Given the description of an element on the screen output the (x, y) to click on. 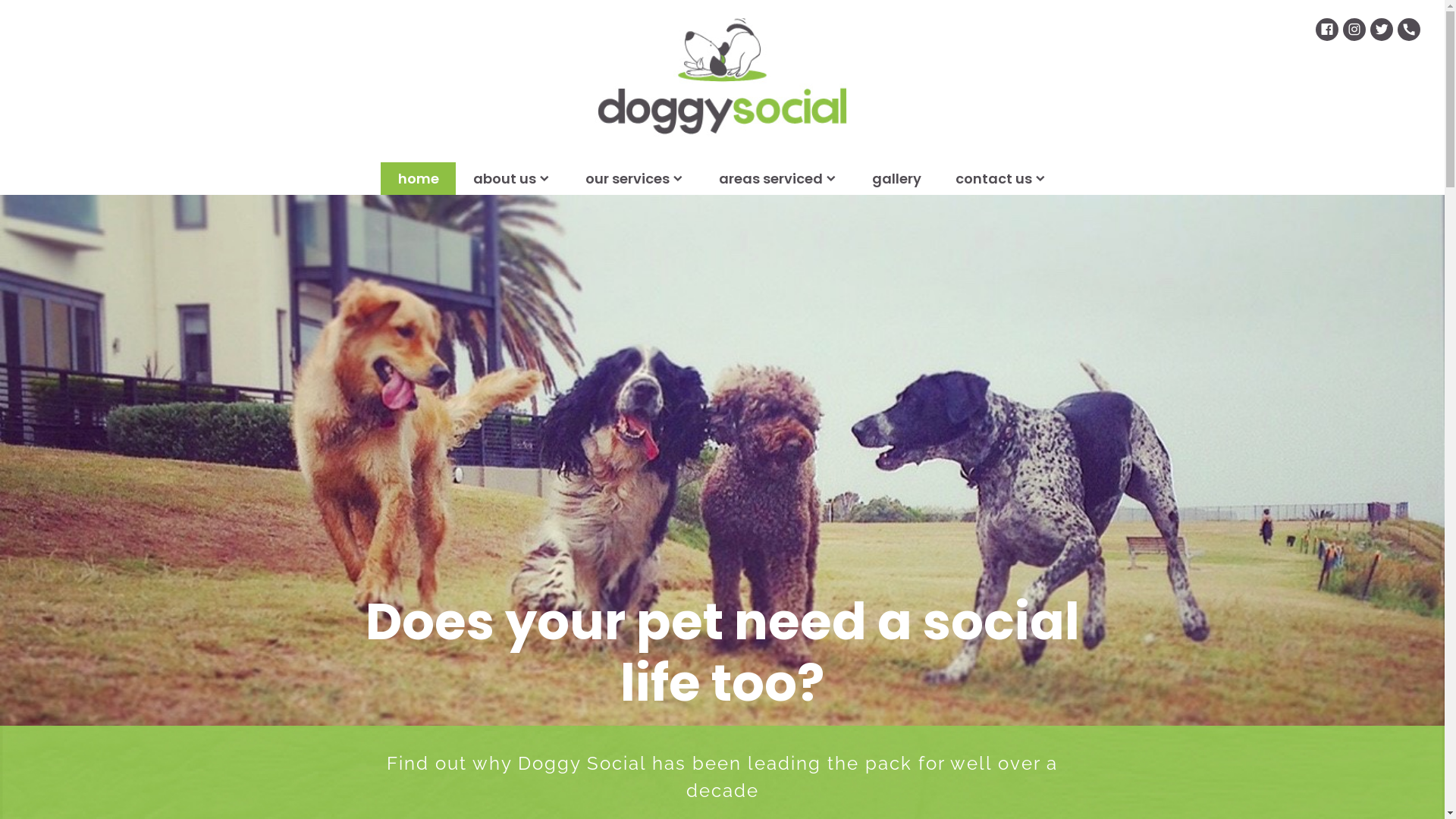
areas serviced Element type: text (777, 178)
Return to homepage Element type: hover (721, 81)
about us Element type: text (511, 178)
home Element type: text (417, 178)
gallery Element type: text (896, 178)
contact us Element type: text (1000, 178)
our services Element type: text (634, 178)
